Given the description of an element on the screen output the (x, y) to click on. 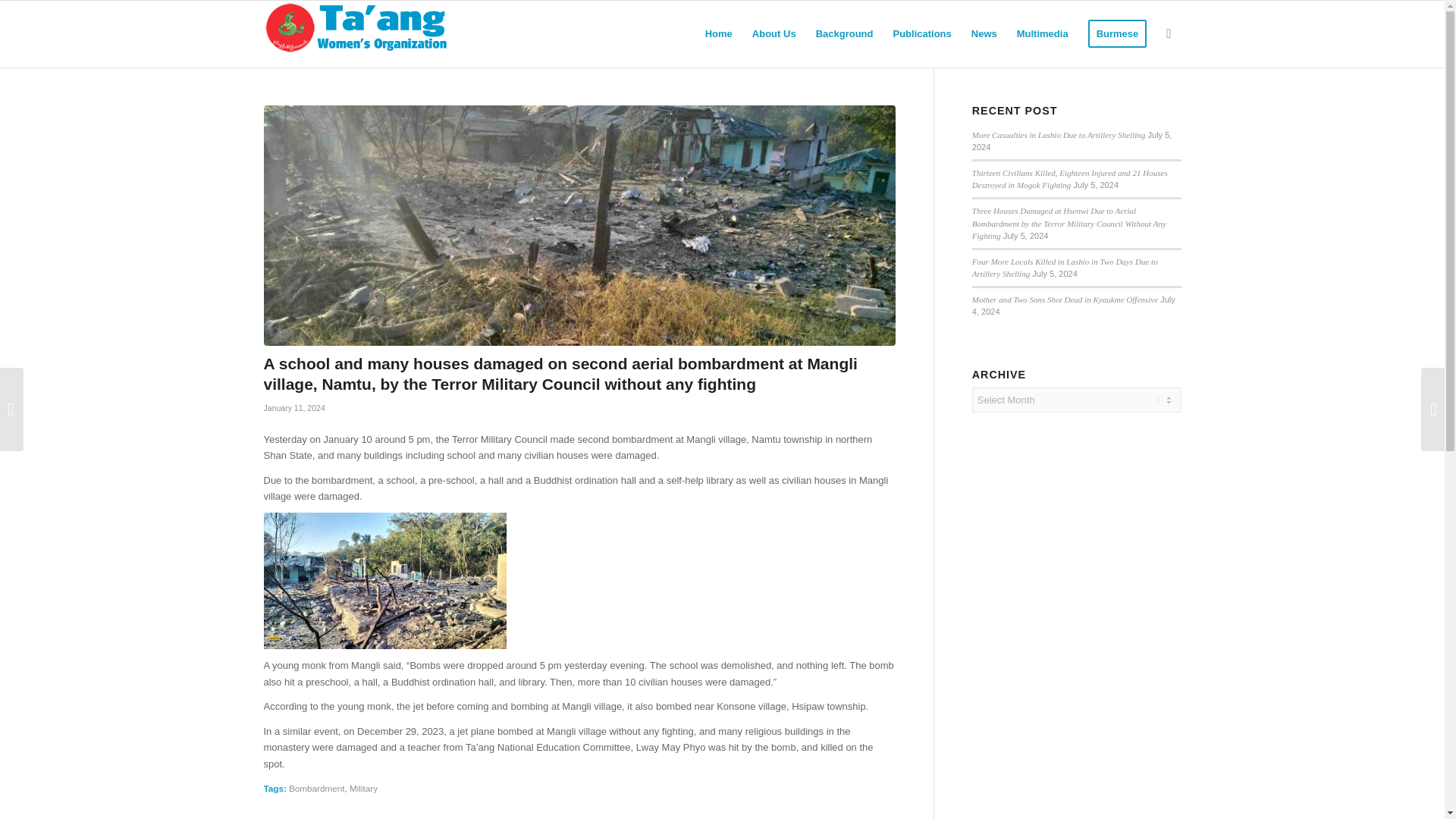
Bombardment (315, 787)
Publications (921, 33)
More Casualties in Lashio Due to Artillery Shelling (1058, 134)
Burmese (1117, 33)
Multimedia (1042, 33)
Mother and Two Sons Shot Dead in Kyaukme Offensive (1064, 298)
About Us (774, 33)
Military (363, 787)
Background (844, 33)
